Given the description of an element on the screen output the (x, y) to click on. 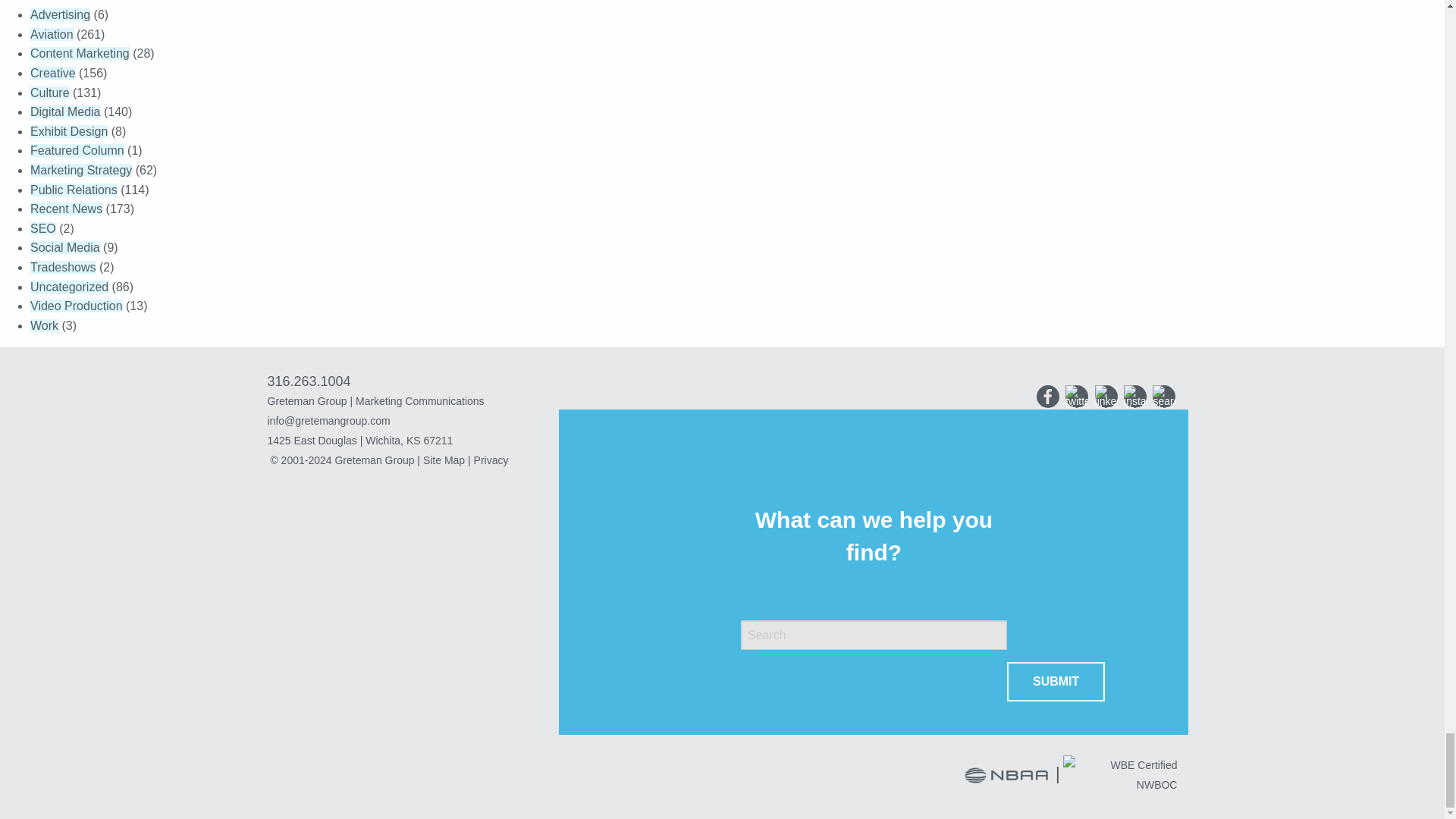
Link to Greteman Group on Instagram (1135, 395)
Link to NBAA.org (1007, 775)
Link to Greteman Group on Facebook (1048, 395)
Click to open Search for Greteman Group website (1163, 395)
Link to Greteman Group on Linkedin (1106, 395)
Link to Privacy Policy of Website (491, 460)
Click to visit Greteman Group on Google Maps (418, 440)
Link to Site Map (443, 460)
Link to WBE Certified (1119, 775)
Link to Greteman Group on Twitter (1076, 395)
Click to Call Greteman Group (308, 381)
Submit (1056, 681)
Click to email Greteman Group (418, 420)
